Given the description of an element on the screen output the (x, y) to click on. 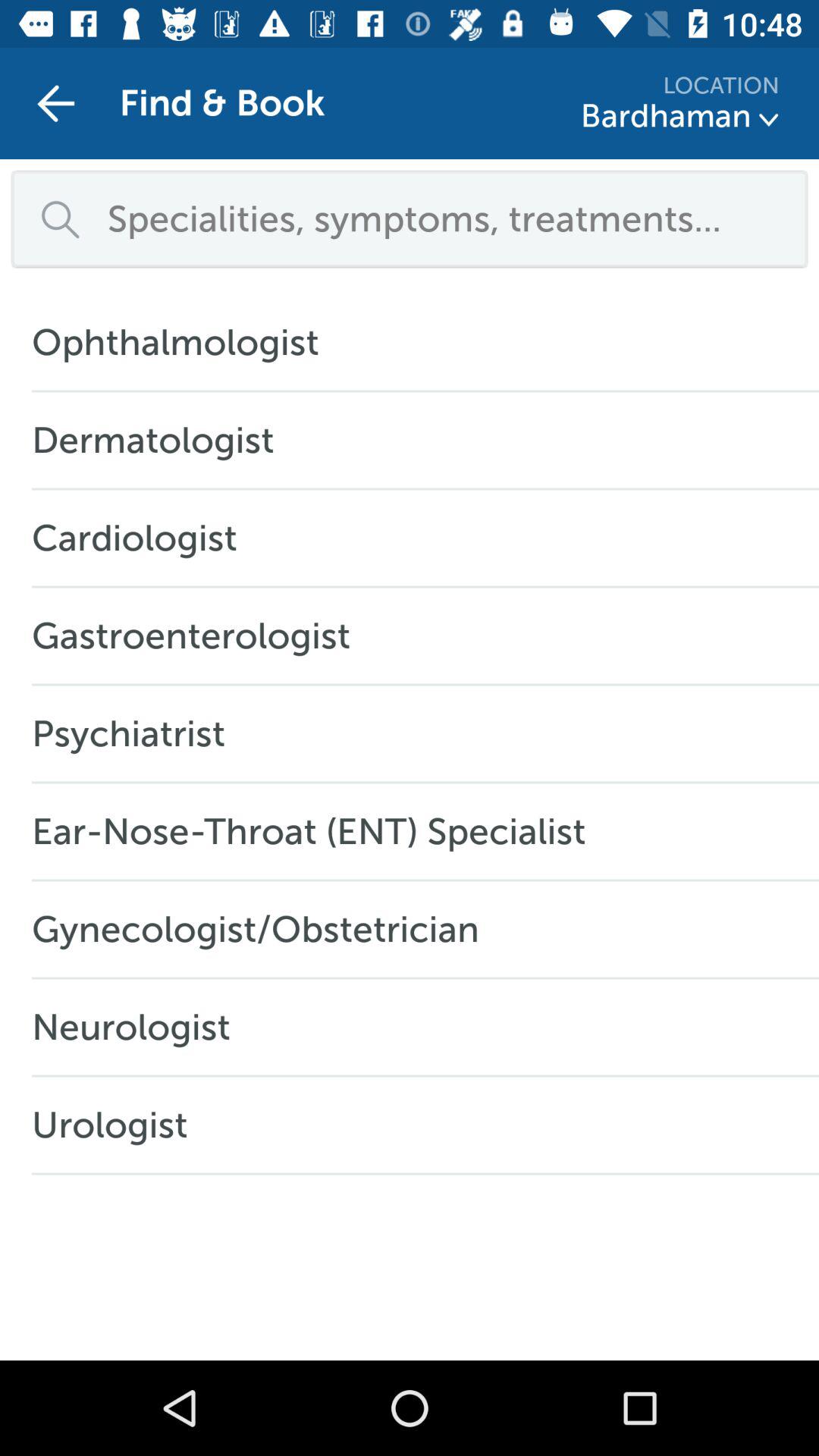
turn off item below the ear nose throat item (263, 928)
